Given the description of an element on the screen output the (x, y) to click on. 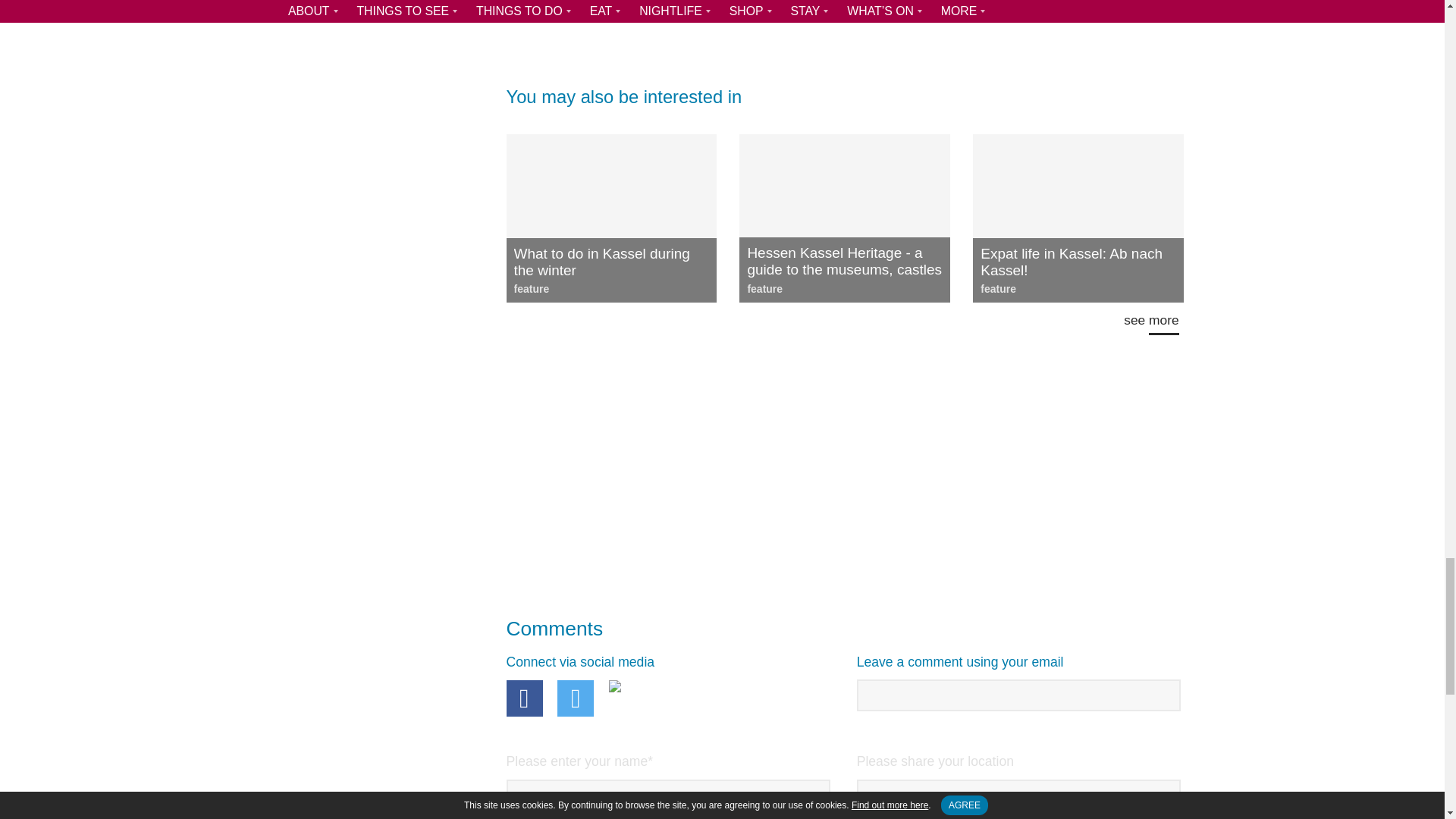
Advertisement (844, 18)
